Given the description of an element on the screen output the (x, y) to click on. 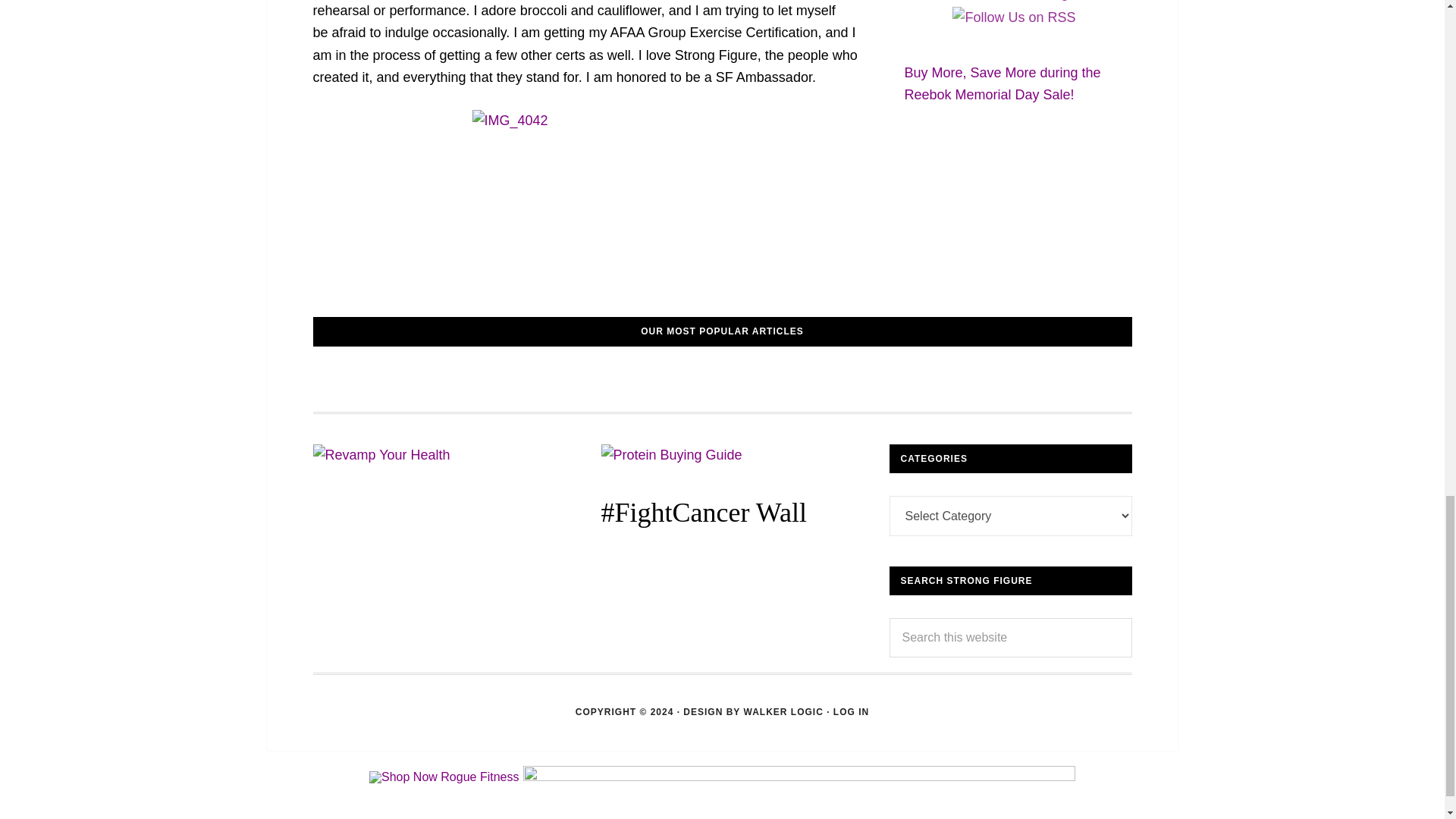
Follow Us on Instagram (1014, 2)
LOG IN (850, 711)
Walker Logic (752, 711)
Why Under-Eating is Making You Gain Weight (722, 379)
Shop Now Rogue Fitness (443, 776)
How To Fix A Slow Metabolism (695, 379)
DESIGN BY WALKER LOGIC (752, 711)
